Given the description of an element on the screen output the (x, y) to click on. 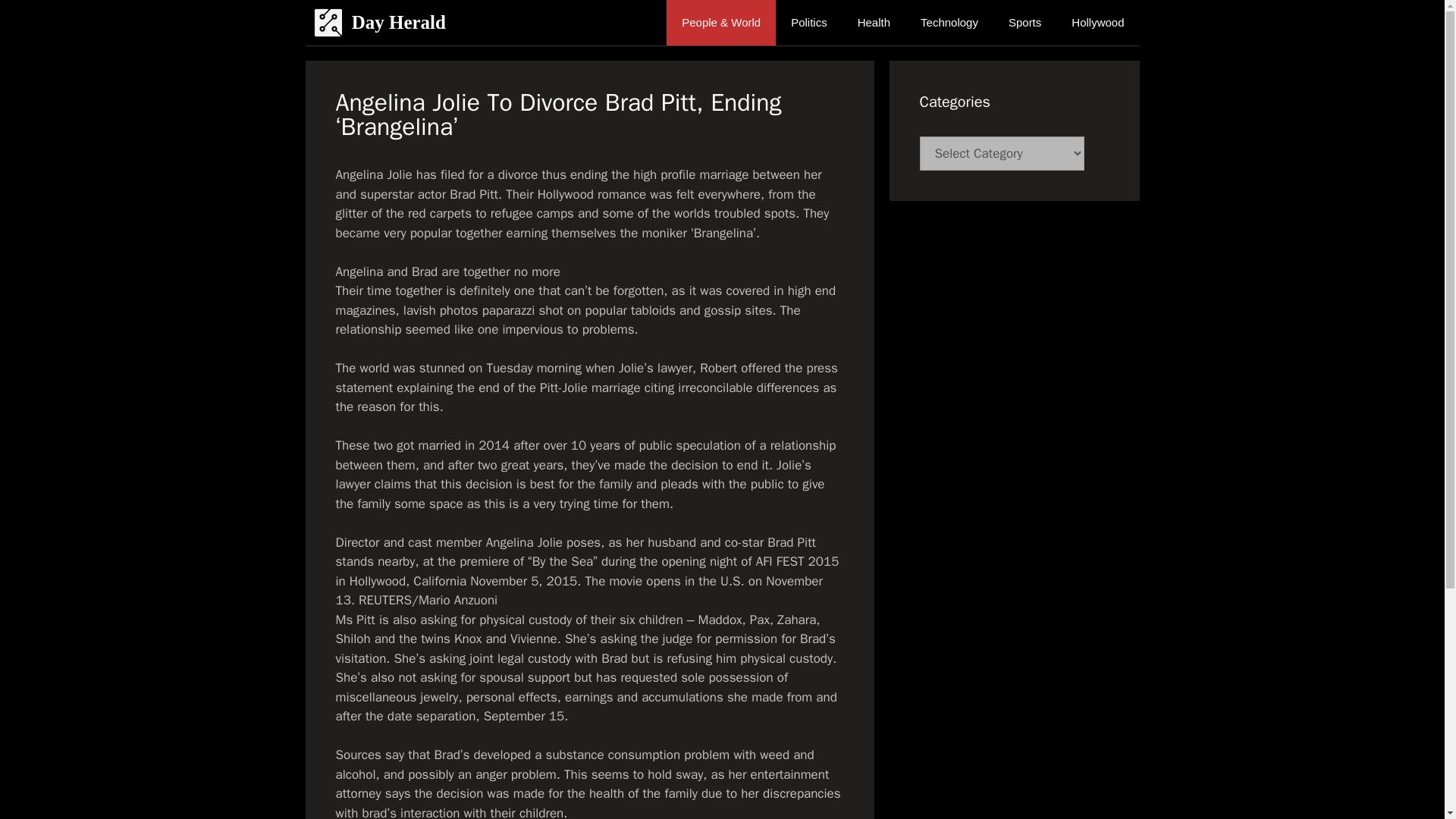
Sports (1024, 22)
Hollywood (1097, 22)
Technology (948, 22)
Health (874, 22)
Politics (809, 22)
Day Herald (398, 22)
